Given the description of an element on the screen output the (x, y) to click on. 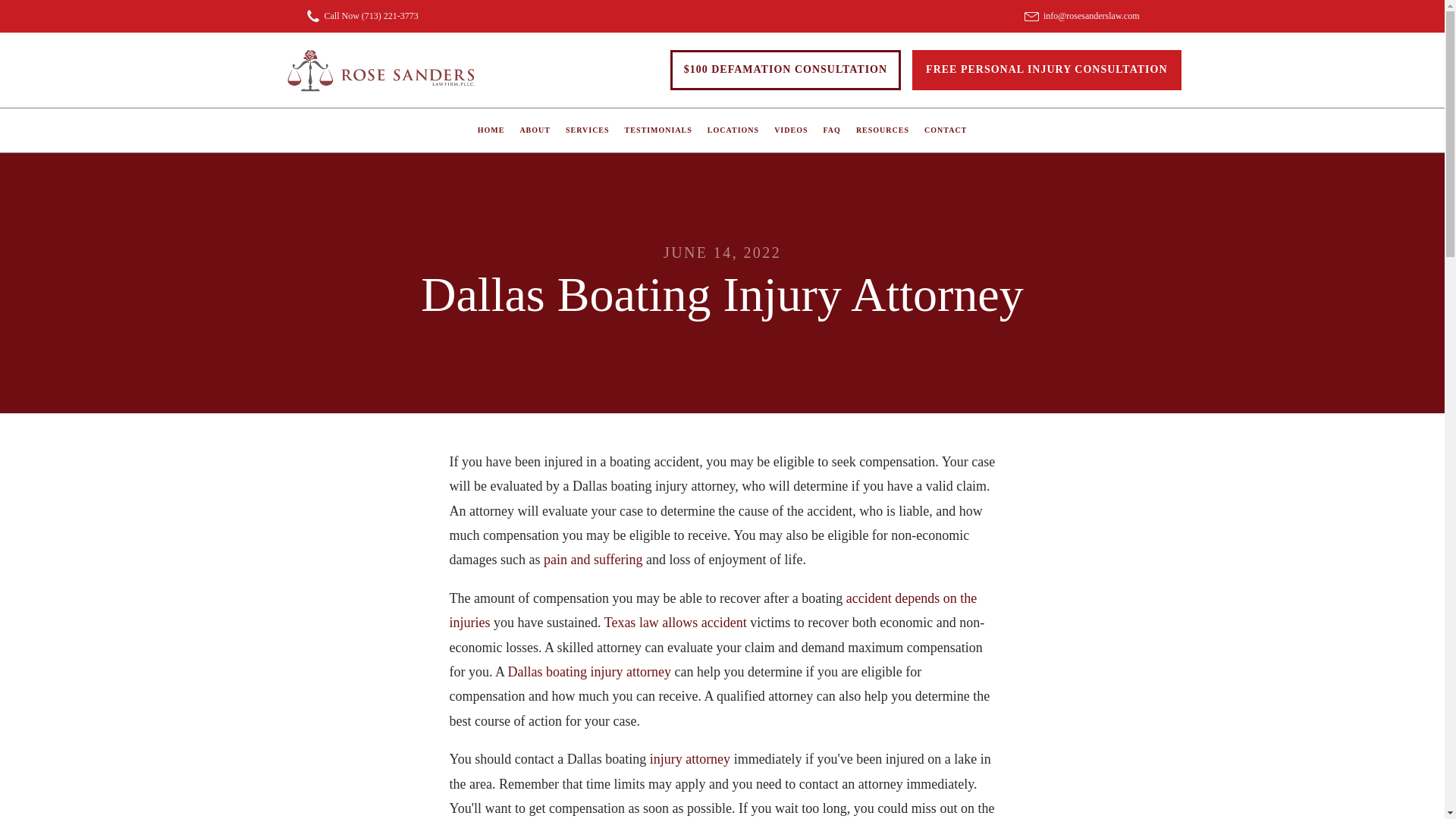
HOME (491, 130)
SERVICES (587, 130)
ABOUT (534, 130)
Texas law allows accident (675, 622)
TESTIMONIALS (658, 130)
accident depends on the injuries (712, 609)
pain and suffering (593, 559)
LOCATIONS (733, 130)
FAQ (831, 130)
Dallas boating injury attorney (589, 671)
